Given the description of an element on the screen output the (x, y) to click on. 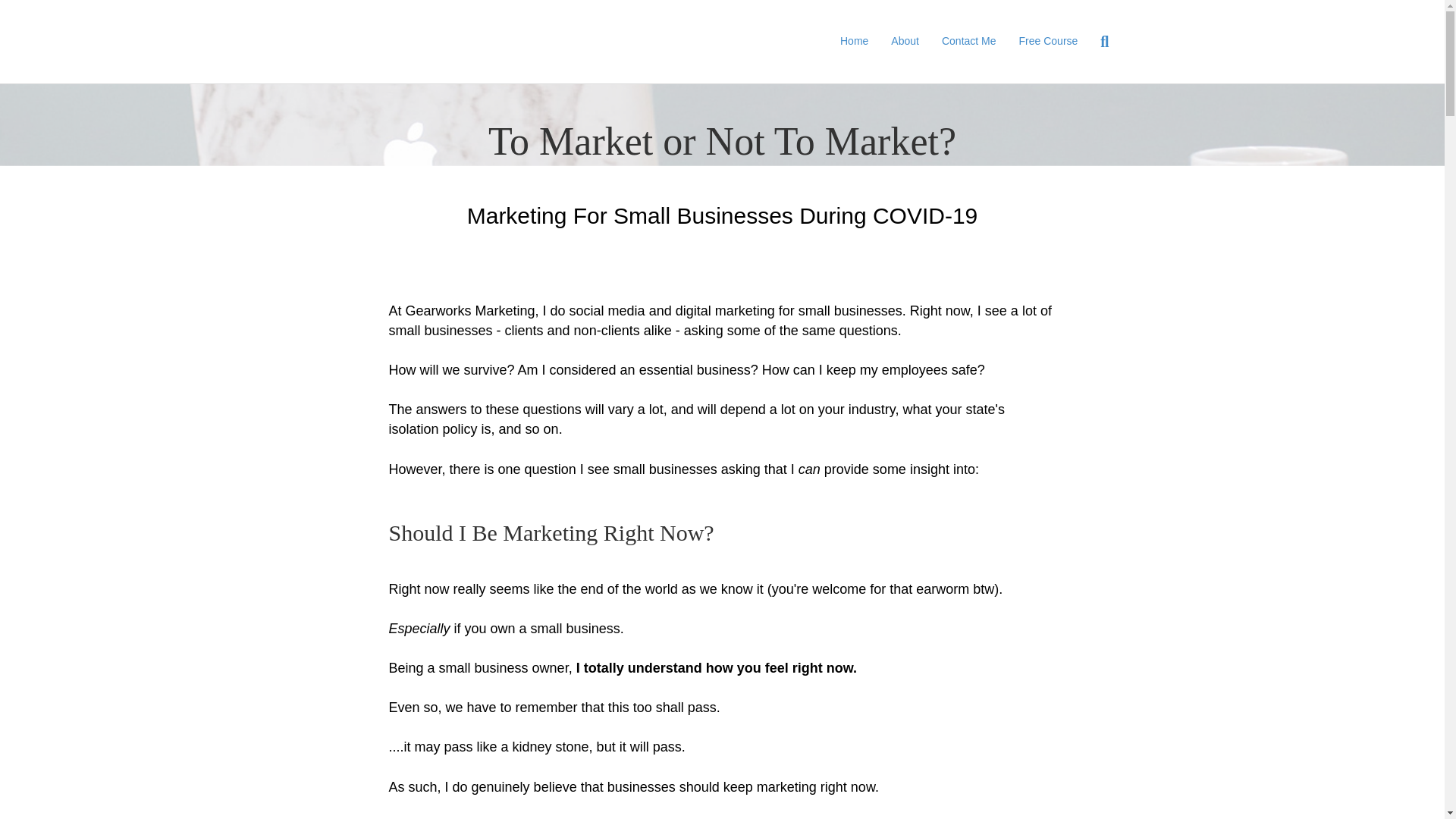
Home (853, 41)
Contact Me (968, 41)
Free Course (1048, 41)
About (904, 41)
